Given the description of an element on the screen output the (x, y) to click on. 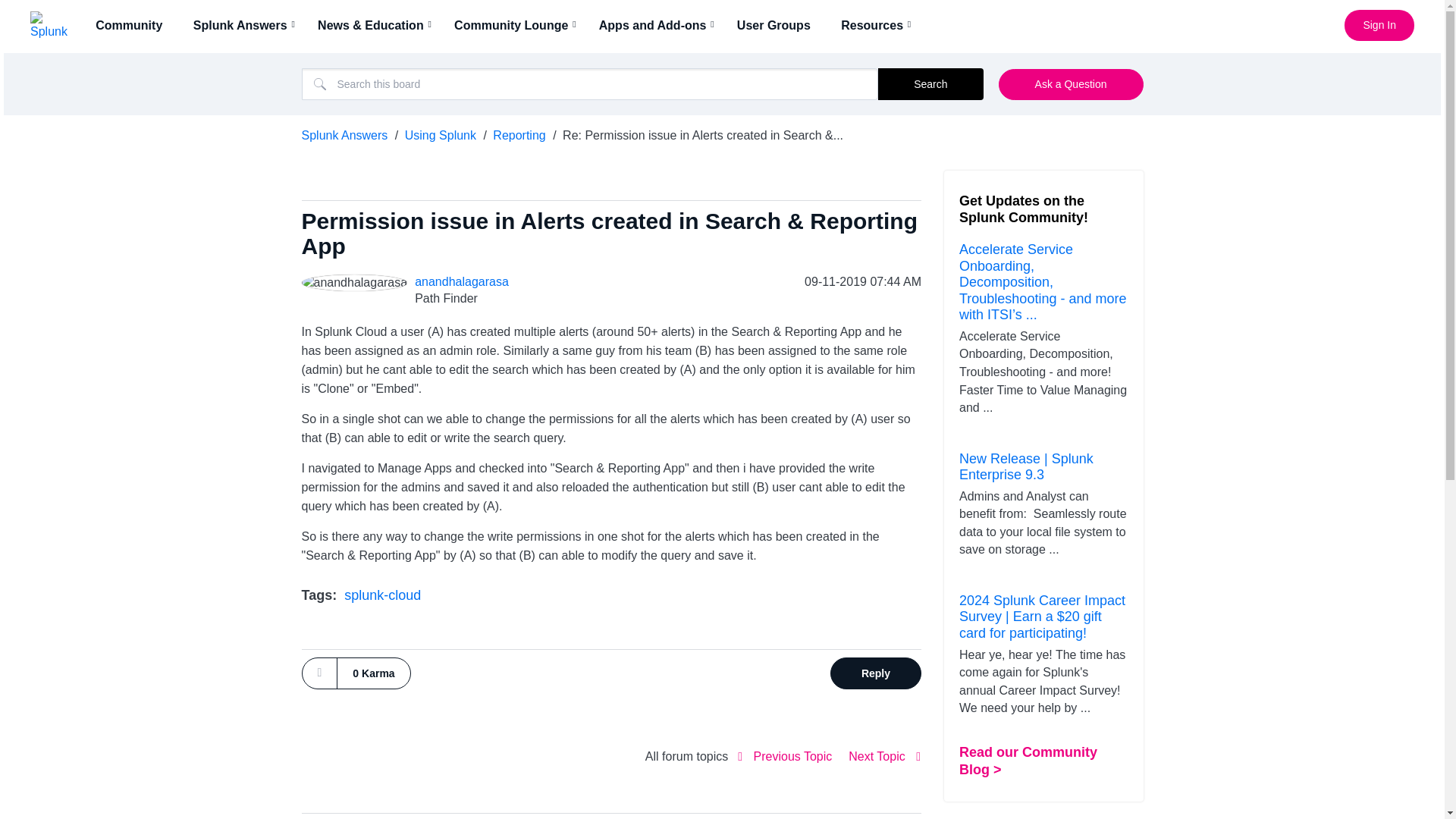
Search (929, 83)
Search (929, 83)
Community (132, 25)
Splunk Answers (244, 25)
Search (590, 83)
